Given the description of an element on the screen output the (x, y) to click on. 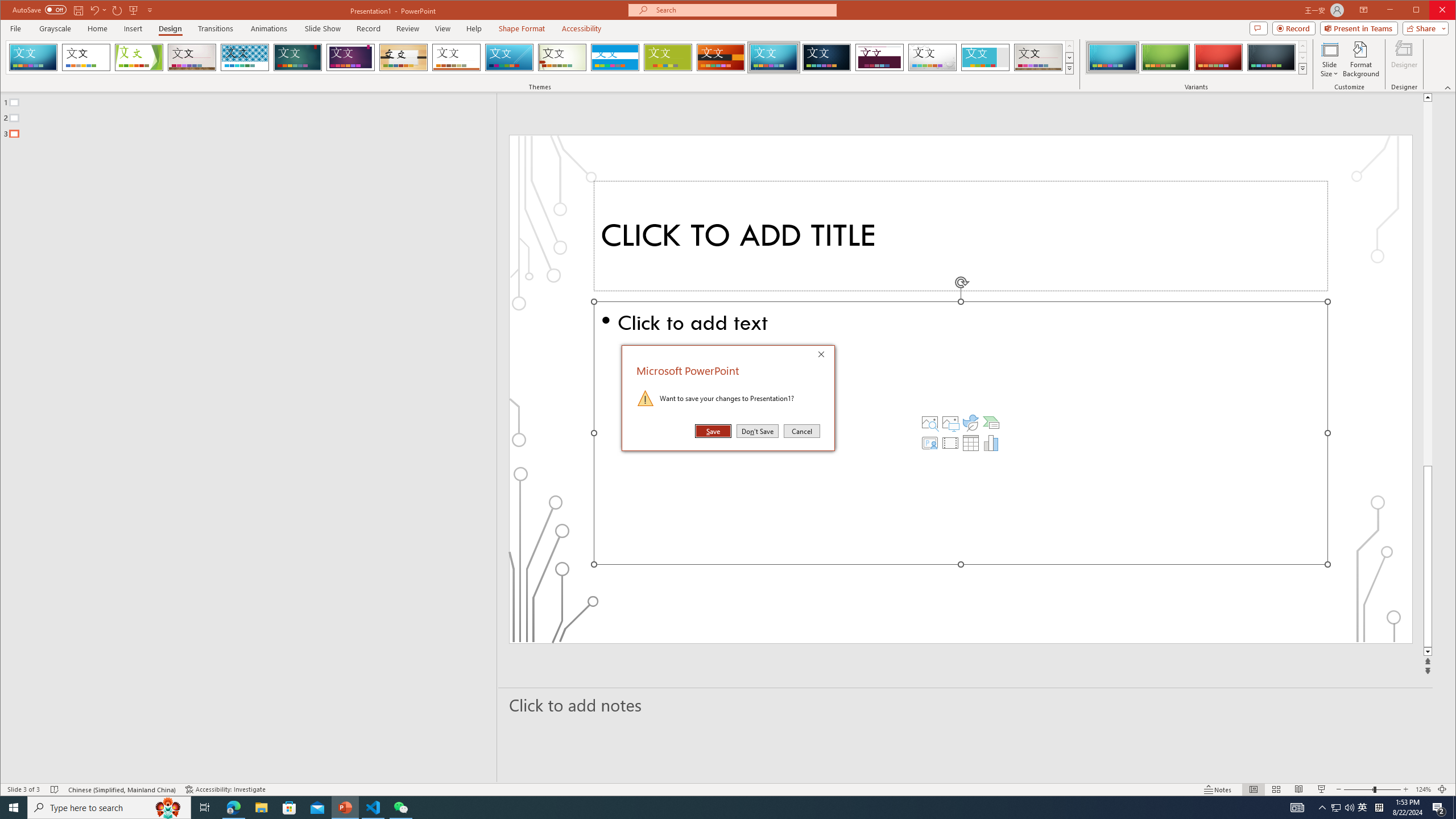
Type here to search (108, 807)
Insert Cameo (929, 443)
Don't Save (757, 431)
Slice (509, 57)
Show desktop (1454, 807)
Damask (826, 57)
Insert an Icon (970, 422)
Insert Chart (991, 443)
Q2790: 100% (1349, 807)
